Given the description of an element on the screen output the (x, y) to click on. 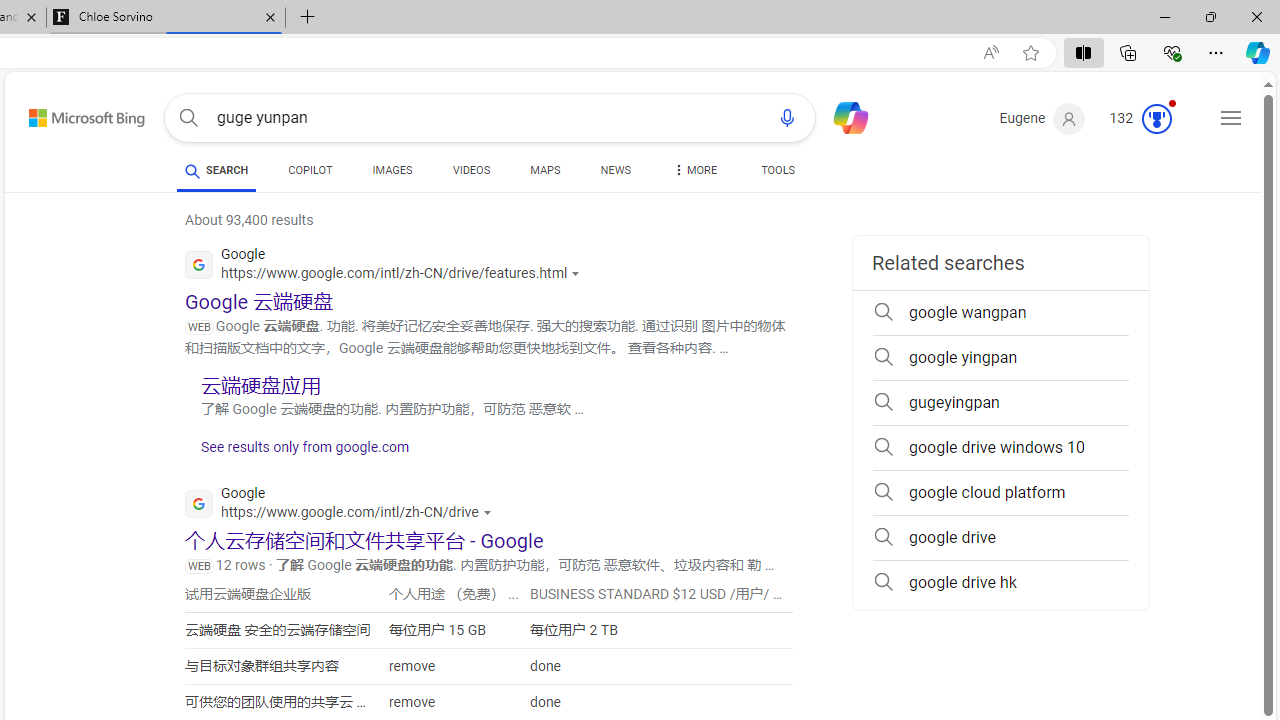
Settings and quick links (1231, 117)
google yingpan (1000, 358)
Chat (842, 116)
Search using voice (787, 117)
Chloe Sorvino (166, 17)
google drive (1000, 538)
NEWS (614, 173)
TOOLS (777, 173)
VIDEOS (471, 173)
NEWS (614, 170)
